Given the description of an element on the screen output the (x, y) to click on. 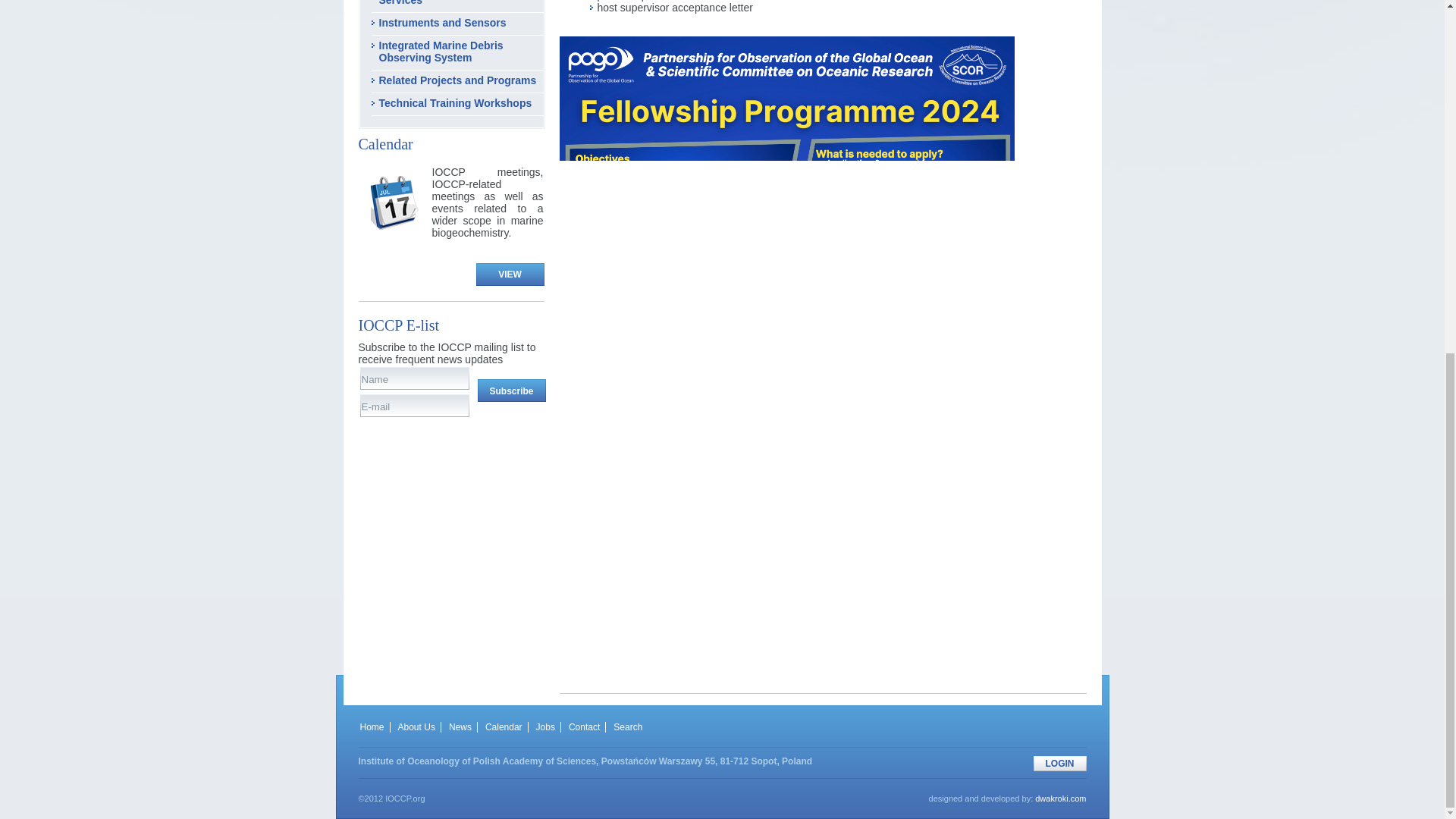
Name (415, 378)
E-mail (415, 405)
Subscribe (511, 390)
